Given the description of an element on the screen output the (x, y) to click on. 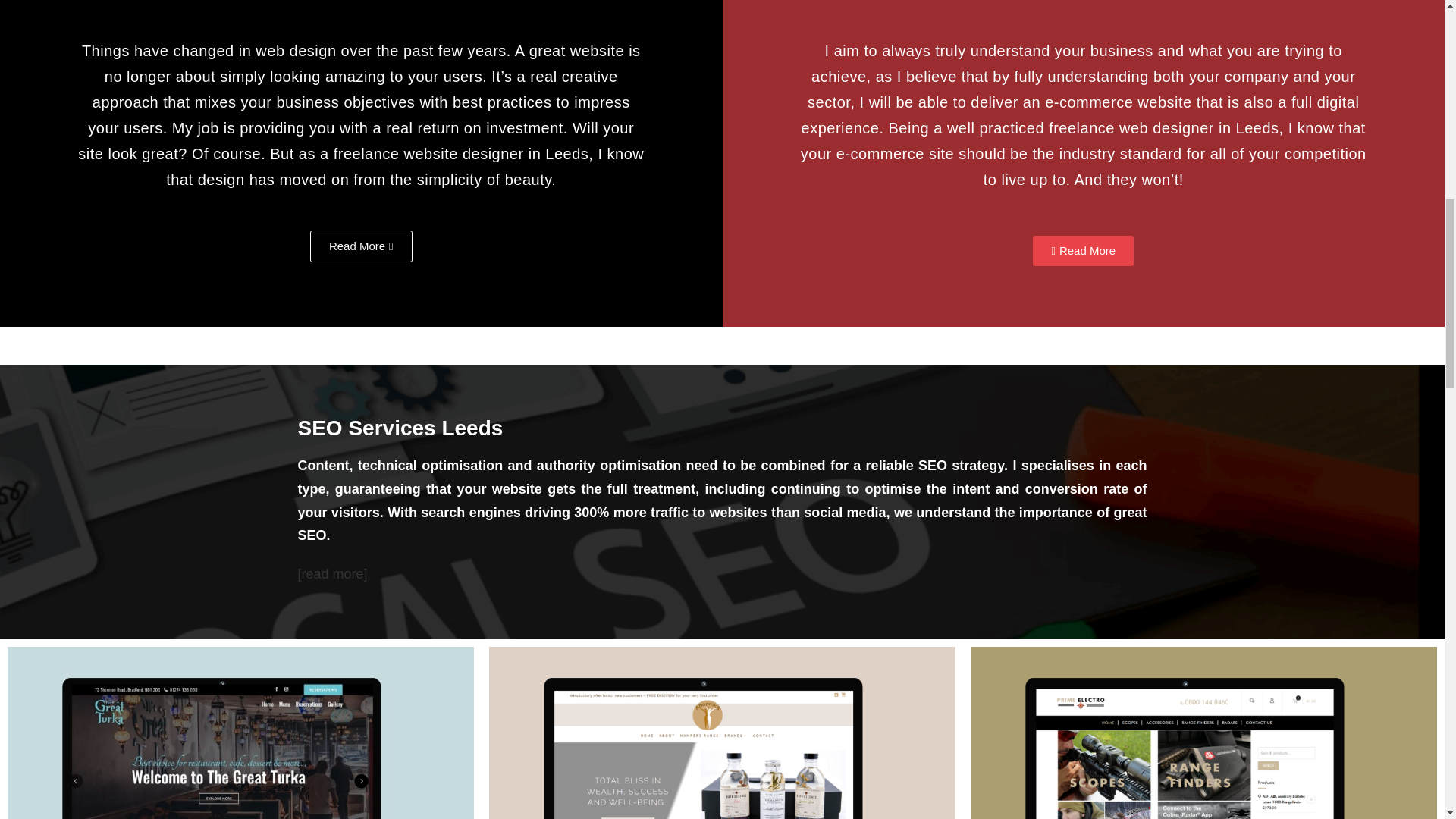
Read More (1083, 250)
Read More (361, 246)
